Given the description of an element on the screen output the (x, y) to click on. 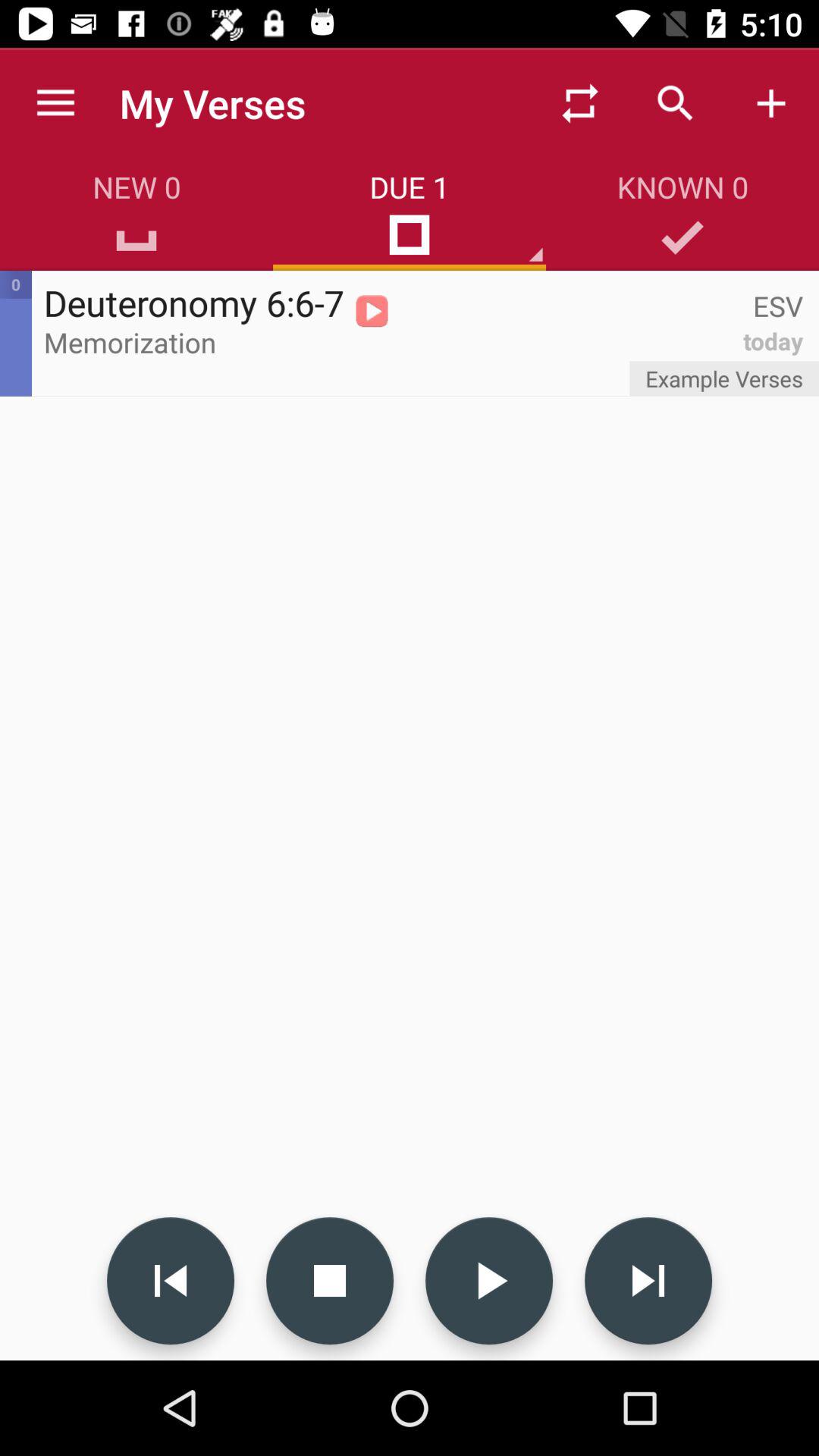
turn off icon above new 0 icon (55, 103)
